Given the description of an element on the screen output the (x, y) to click on. 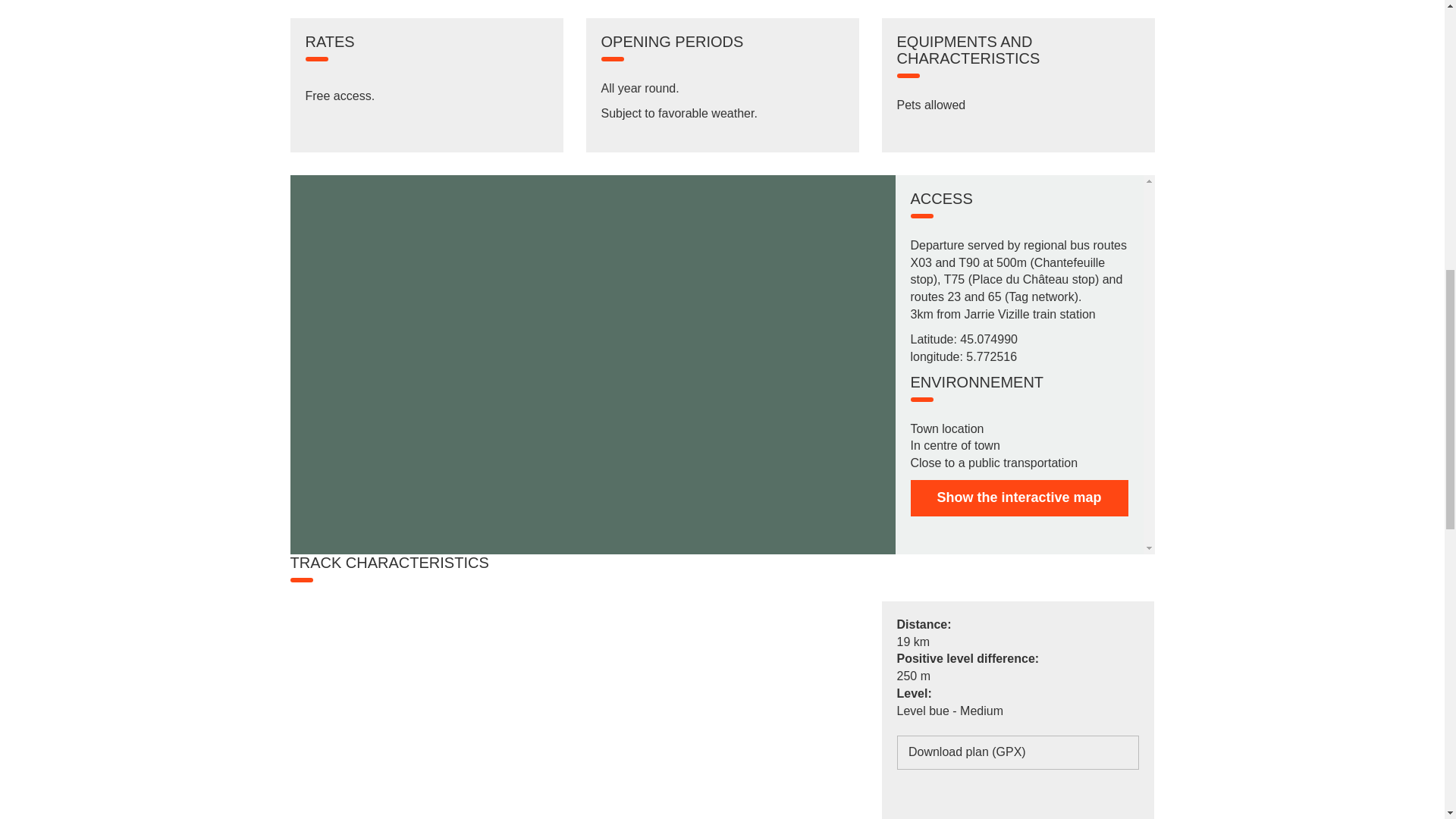
Interactive map (1018, 497)
